Given the description of an element on the screen output the (x, y) to click on. 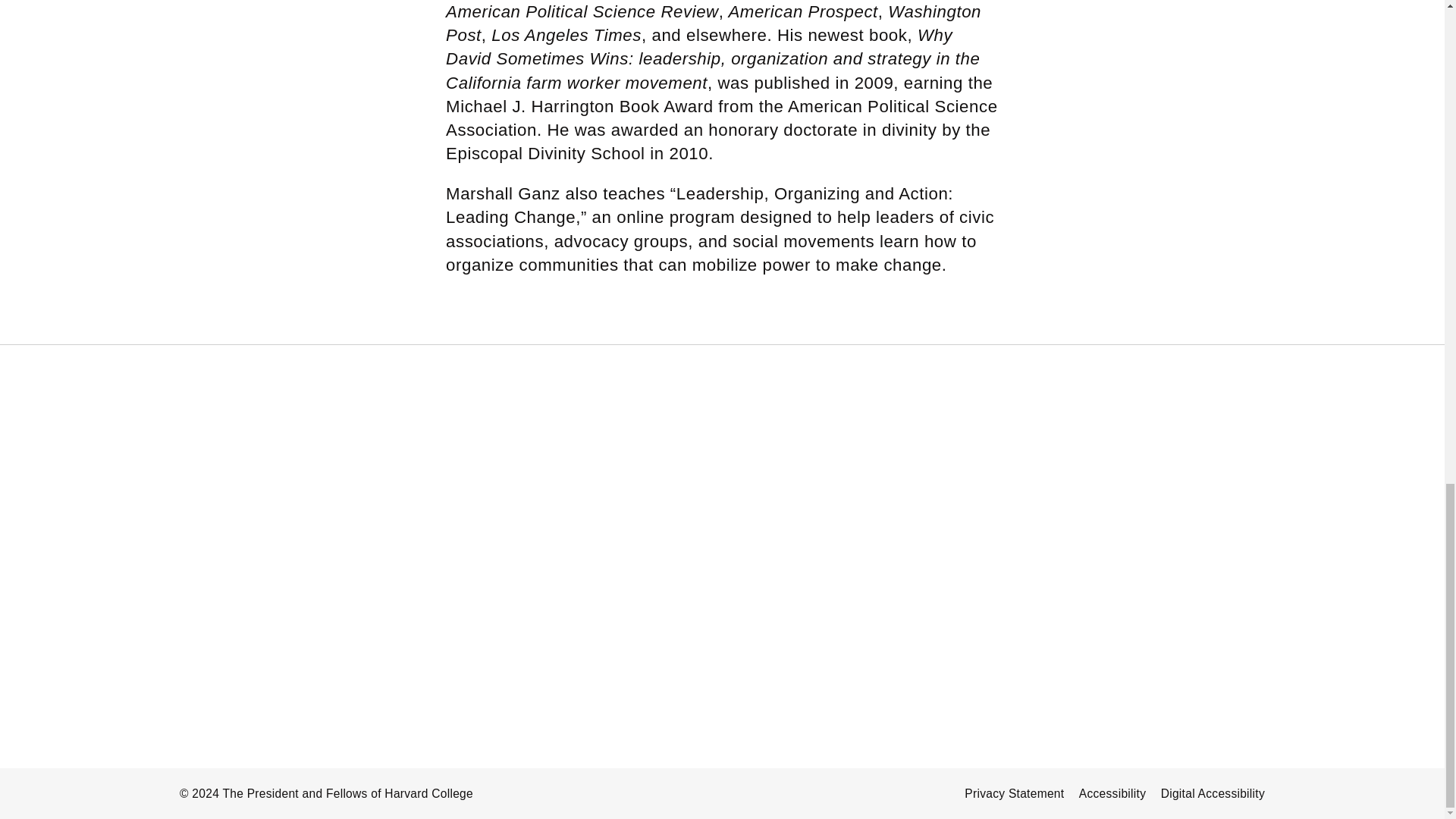
Accessibility (1111, 793)
Digital Accessibility (1212, 793)
Privacy Statement (1013, 793)
Subscribe (717, 543)
